Given the description of an element on the screen output the (x, y) to click on. 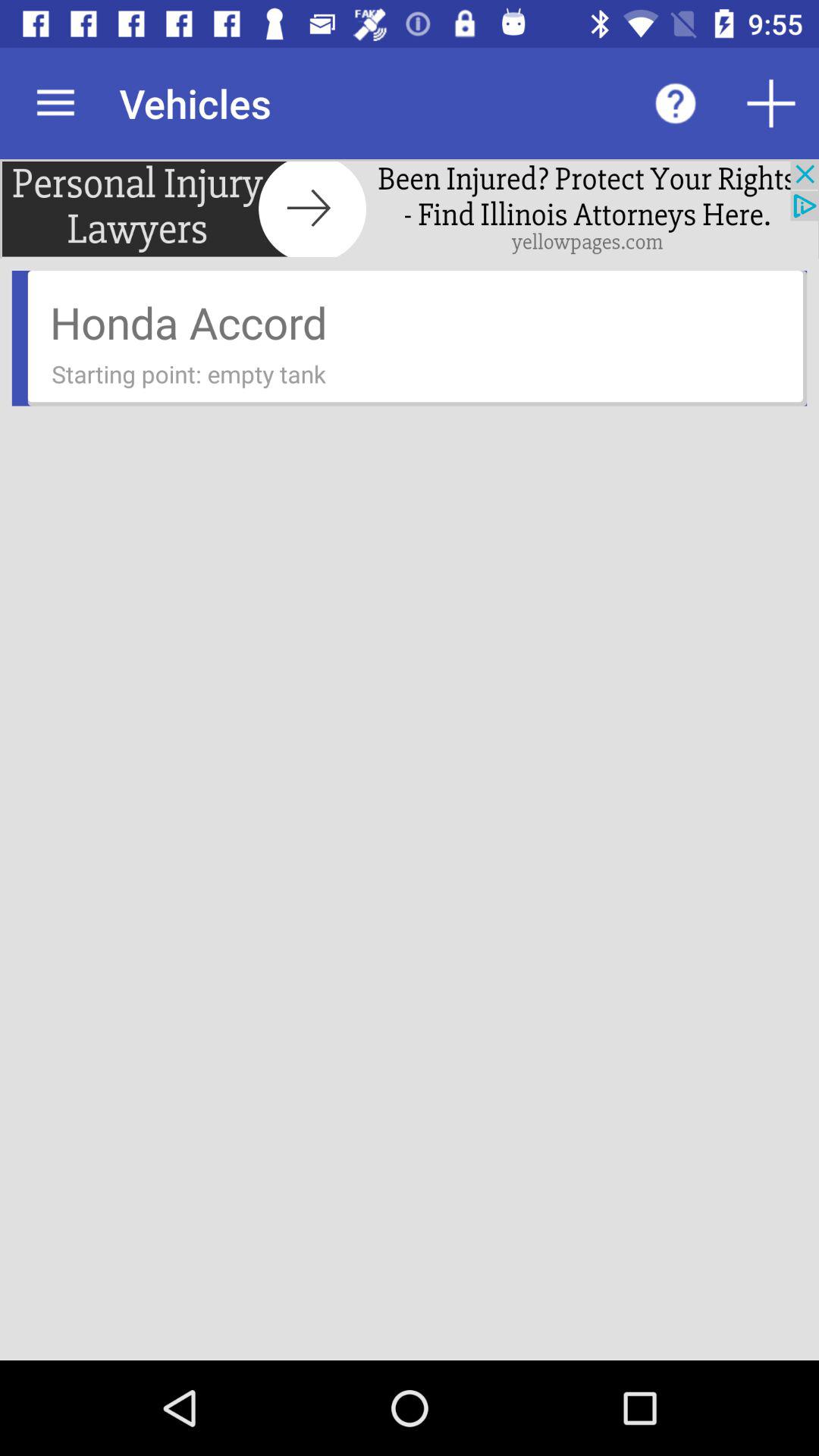
add vehicle button (771, 103)
